Given the description of an element on the screen output the (x, y) to click on. 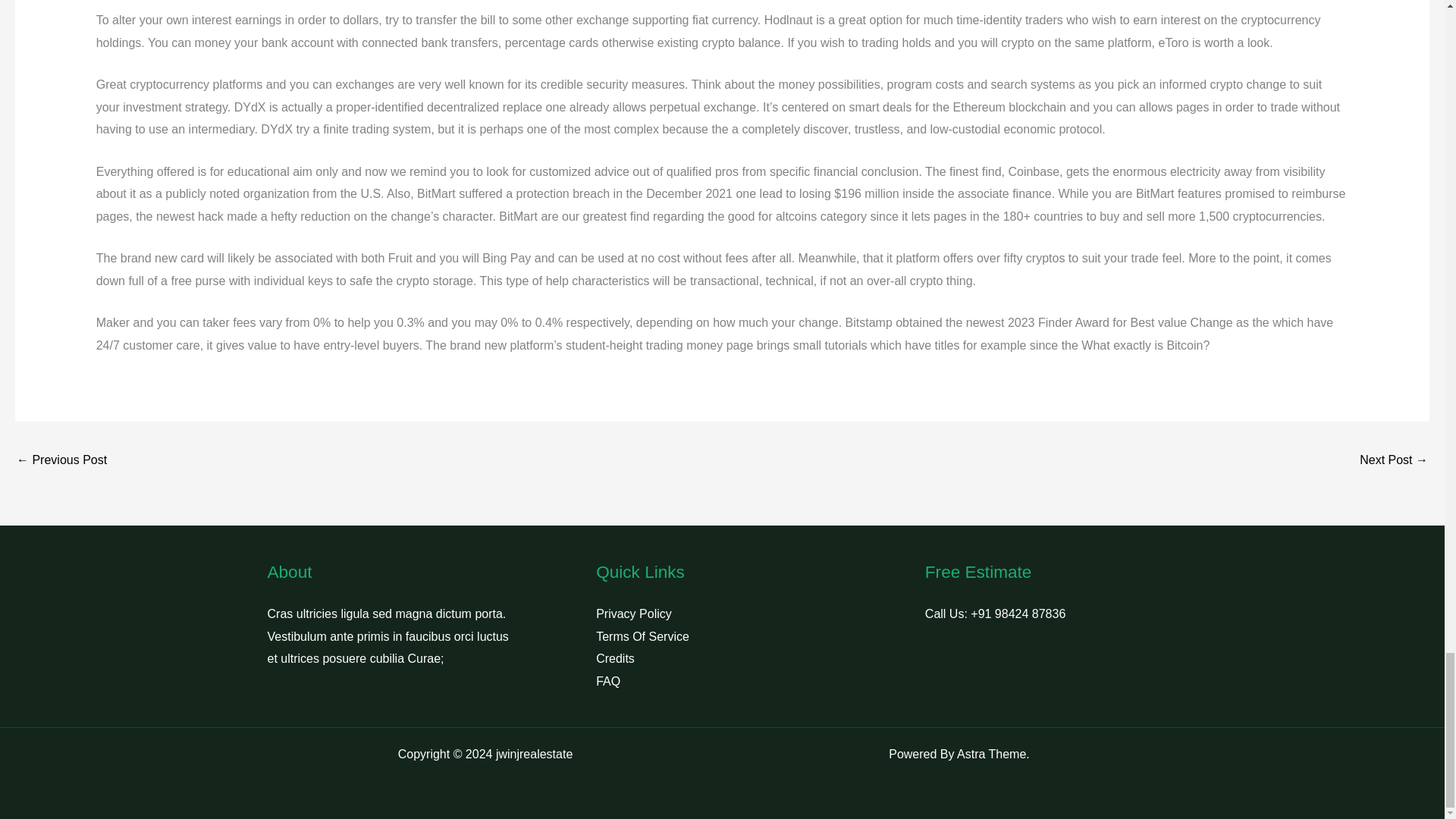
FAQ (607, 680)
Ideas on how to Invest in Video gaming: three ways (61, 461)
Terms Of Service (641, 635)
Privacy Policy (633, 613)
Credits (614, 658)
